Given the description of an element on the screen output the (x, y) to click on. 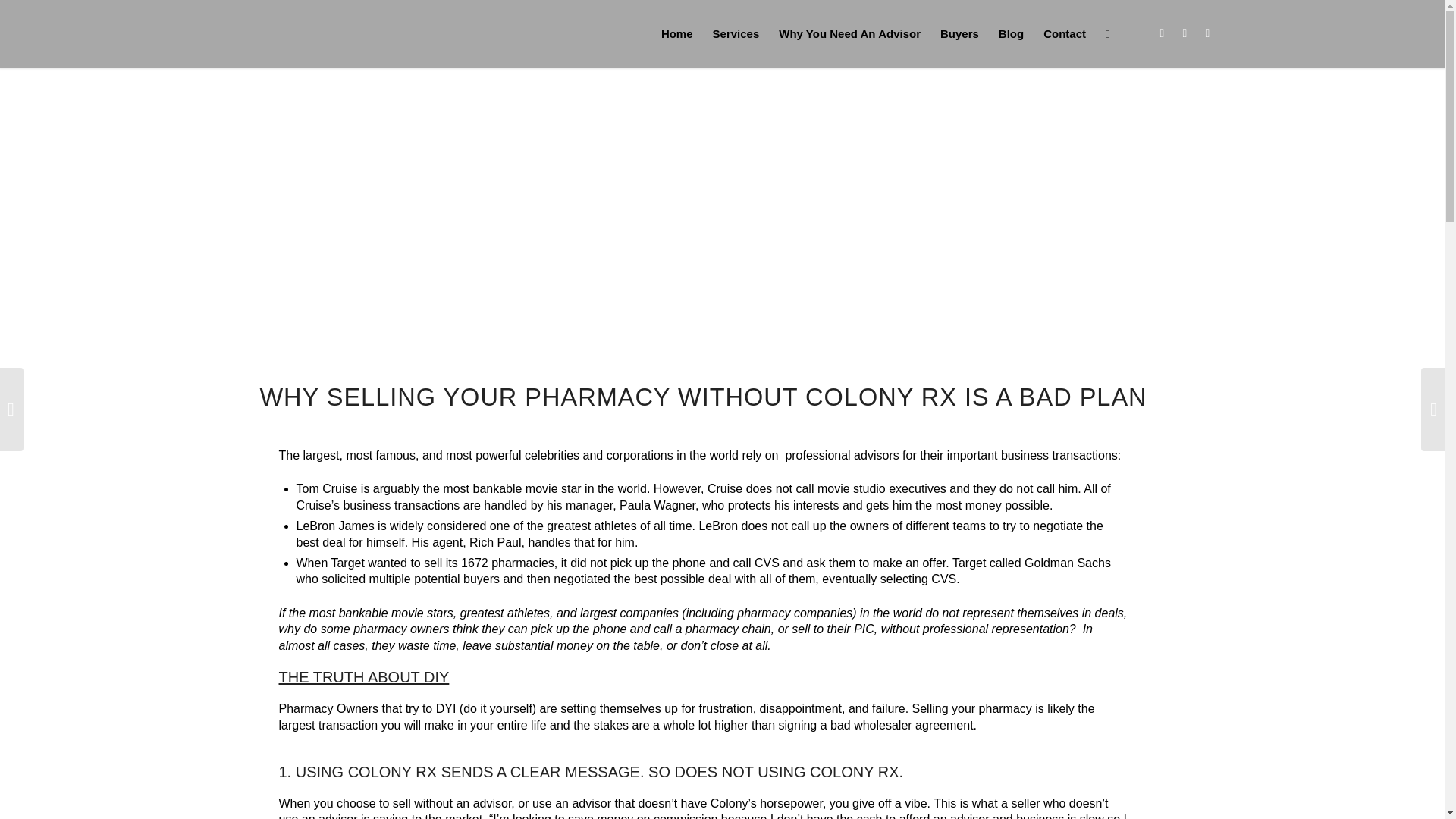
Services (736, 33)
Facebook (1184, 33)
LinkedIn (1208, 33)
Twitter (1162, 33)
Why You Need An Advisor (849, 33)
Contact (1064, 33)
